Given the description of an element on the screen output the (x, y) to click on. 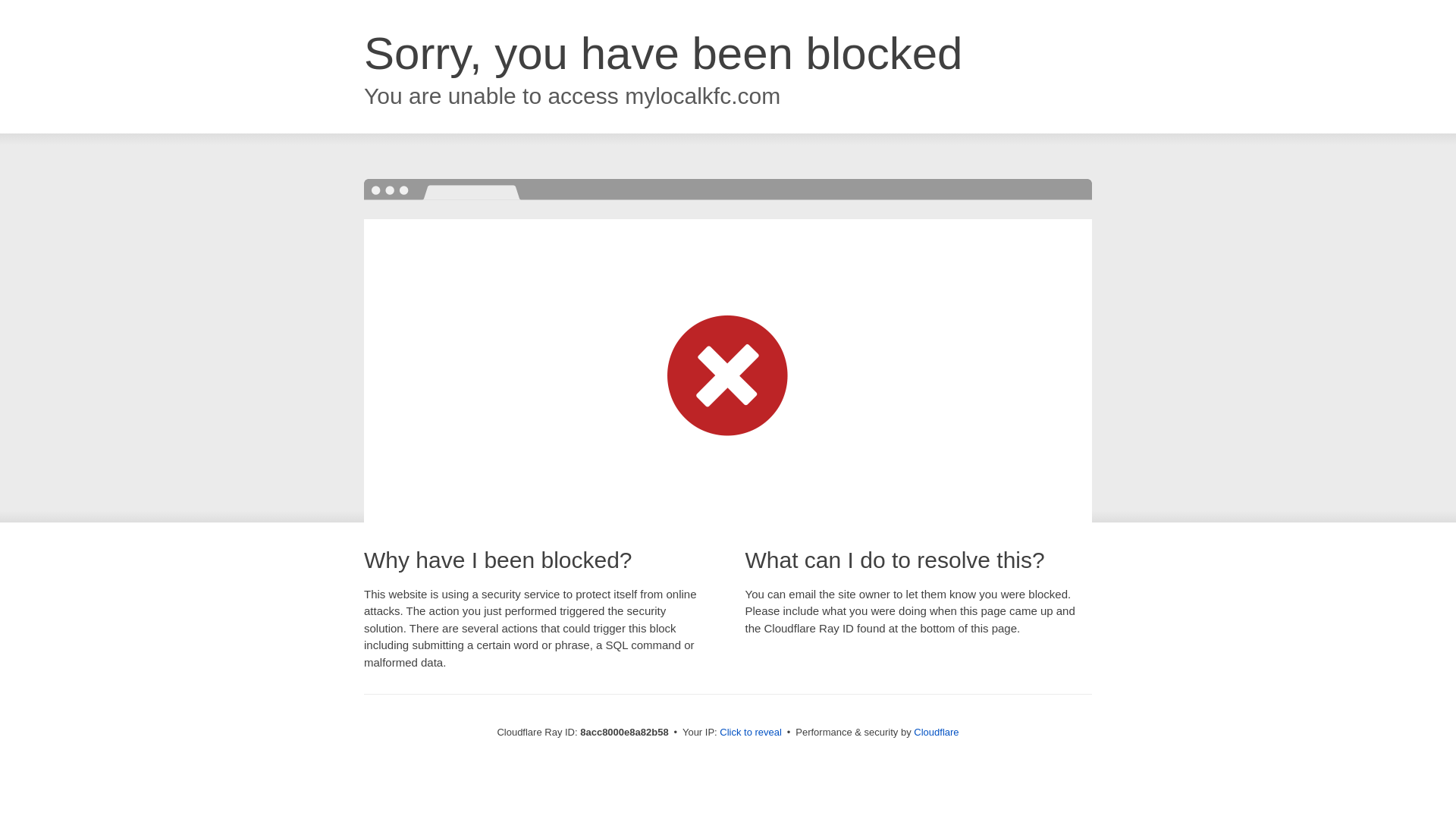
Click to reveal (750, 732)
Cloudflare (936, 731)
